Given the description of an element on the screen output the (x, y) to click on. 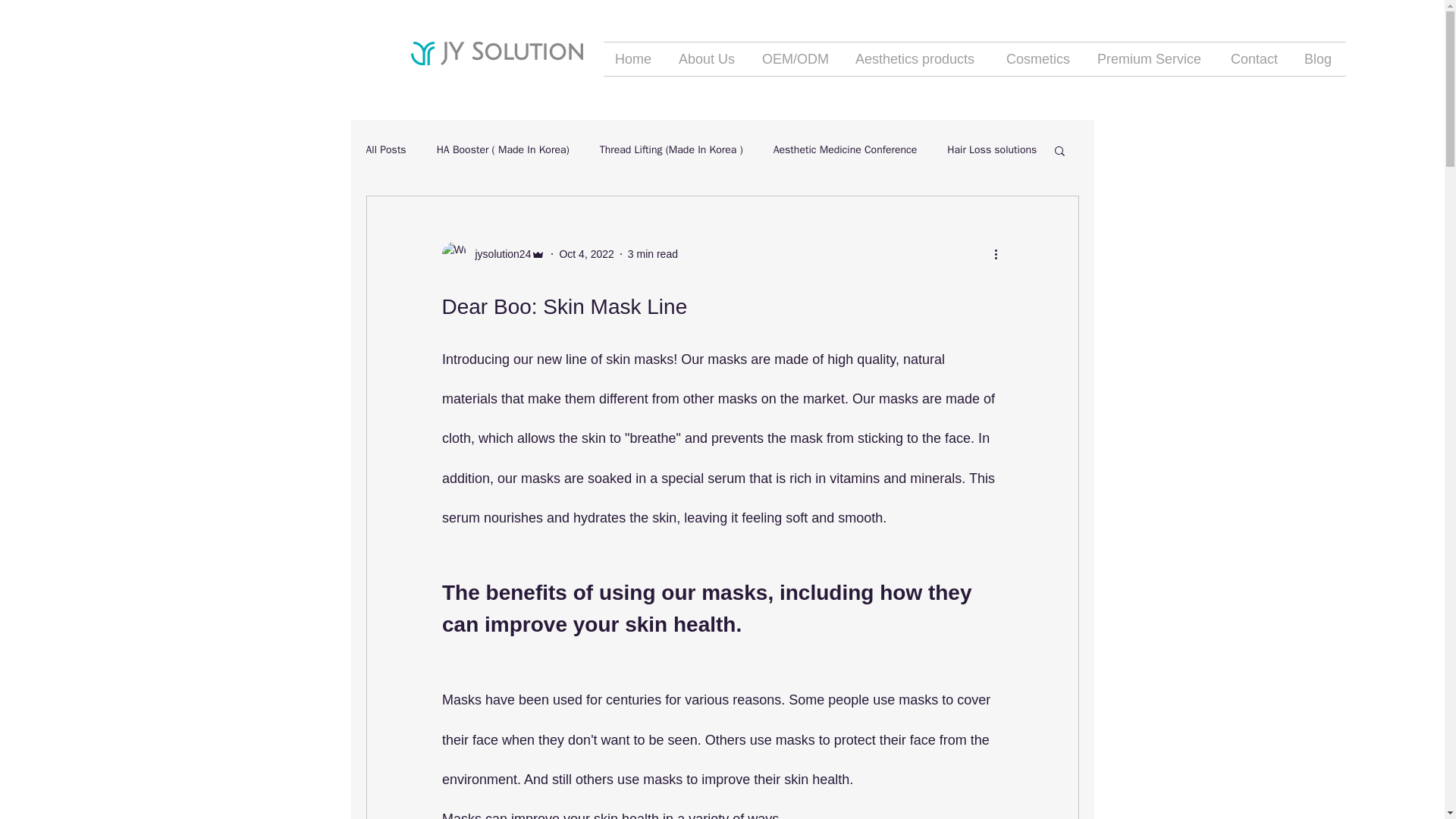
3 min read (652, 253)
Aesthetic Medicine Conference (845, 150)
Aesthetics products (919, 59)
Hair Loss solutions (991, 150)
Contact (1256, 59)
Premium Service (1153, 59)
Cosmetics (1040, 59)
Home (635, 59)
jysolution24 (492, 253)
Blog (1318, 59)
All Posts (385, 150)
About Us (708, 59)
Oct 4, 2022 (585, 253)
jysolution24 (498, 253)
